Given the description of an element on the screen output the (x, y) to click on. 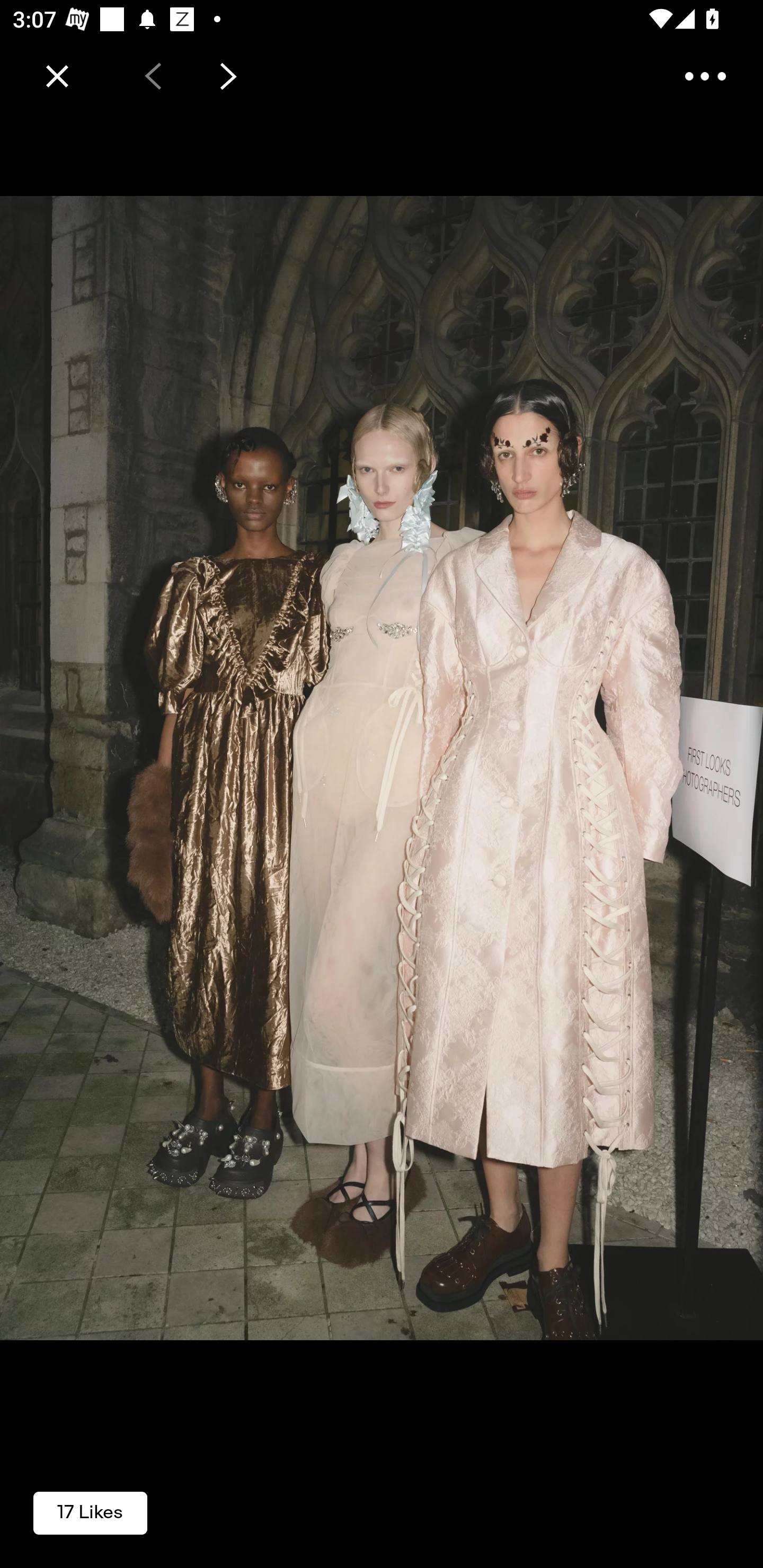
17 Likes (90, 1512)
